Given the description of an element on the screen output the (x, y) to click on. 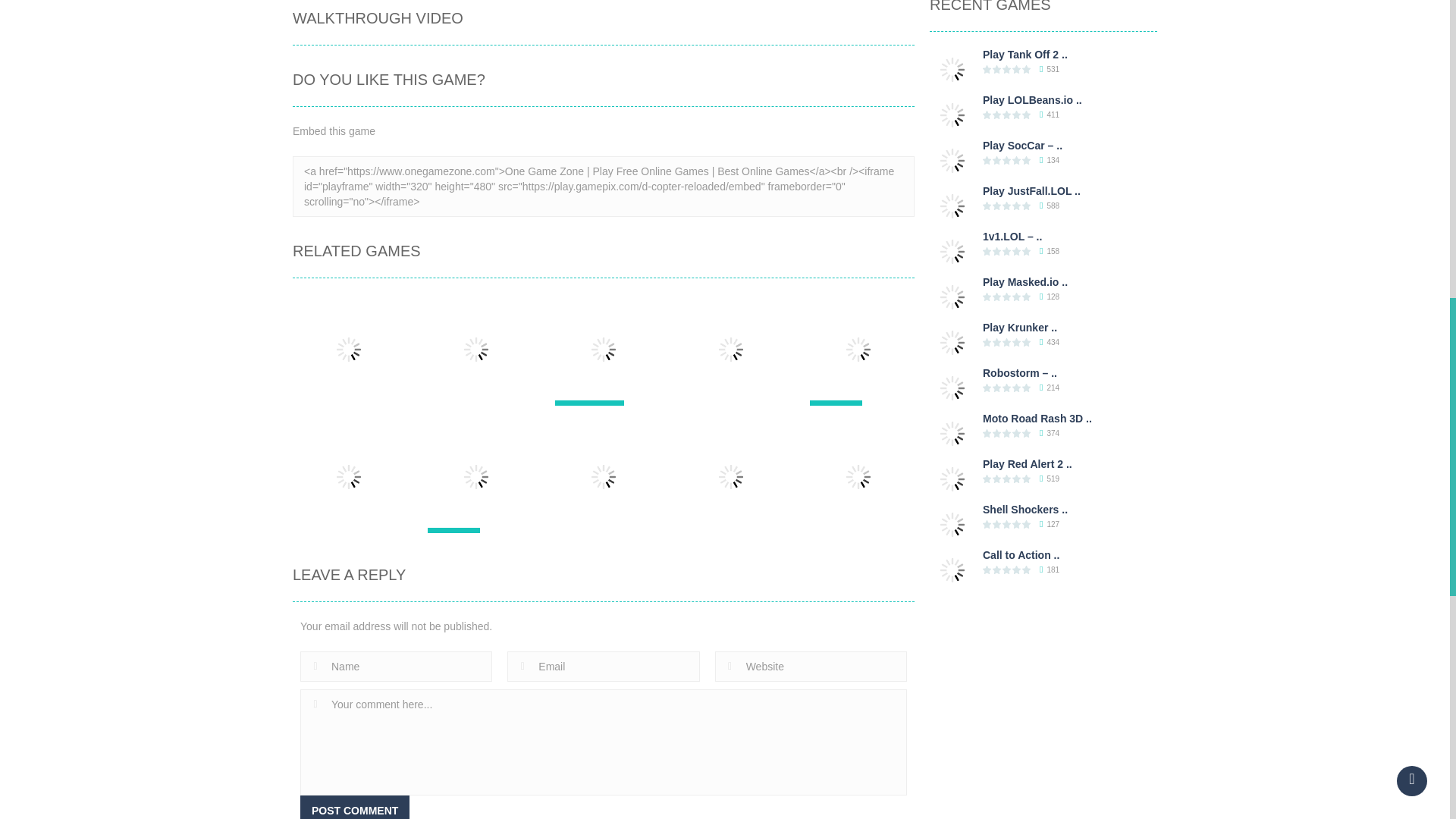
Post Comment (354, 807)
